Given the description of an element on the screen output the (x, y) to click on. 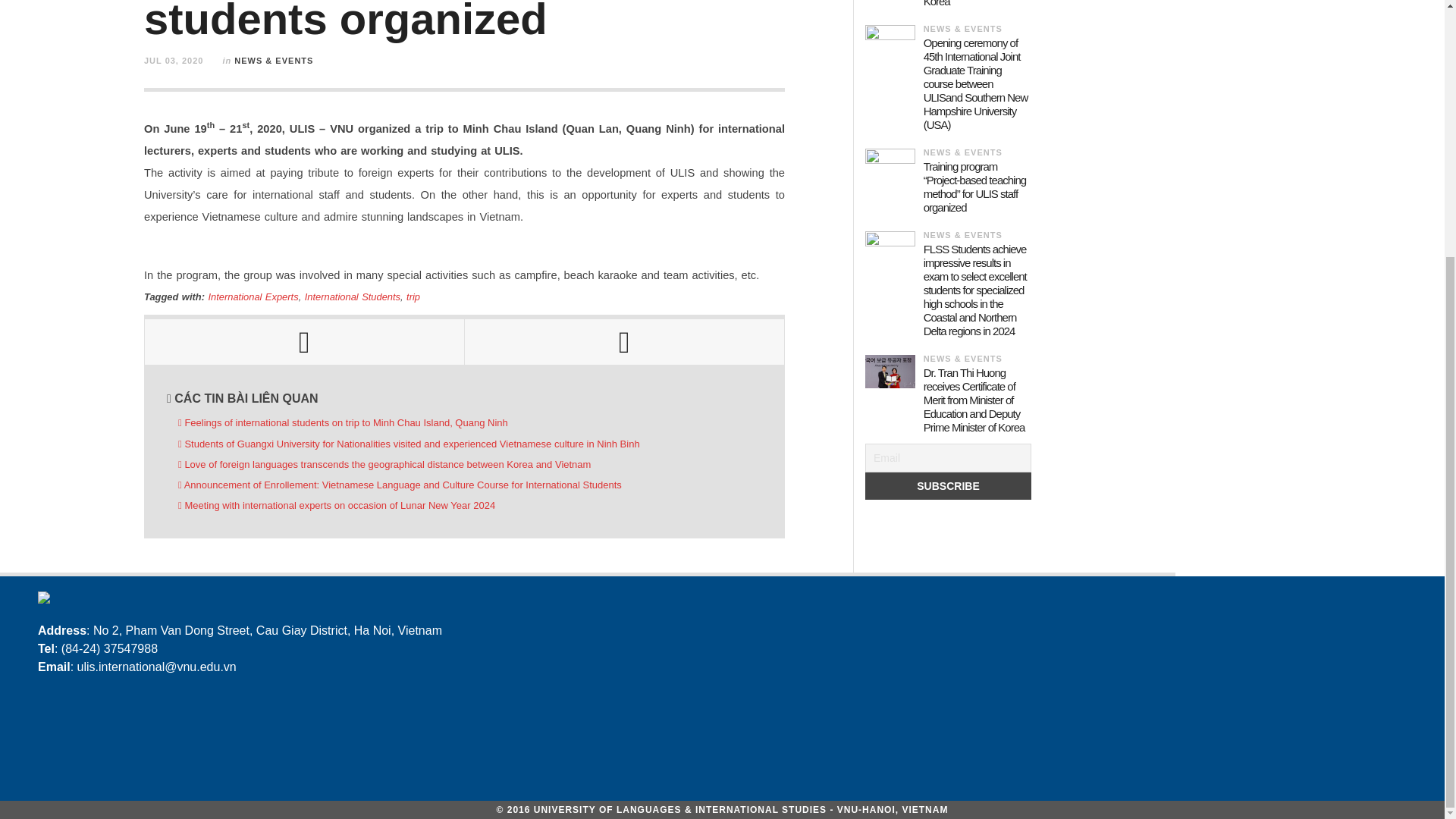
Next Post (624, 341)
Previous Post (304, 341)
Subscribe (947, 485)
